Given the description of an element on the screen output the (x, y) to click on. 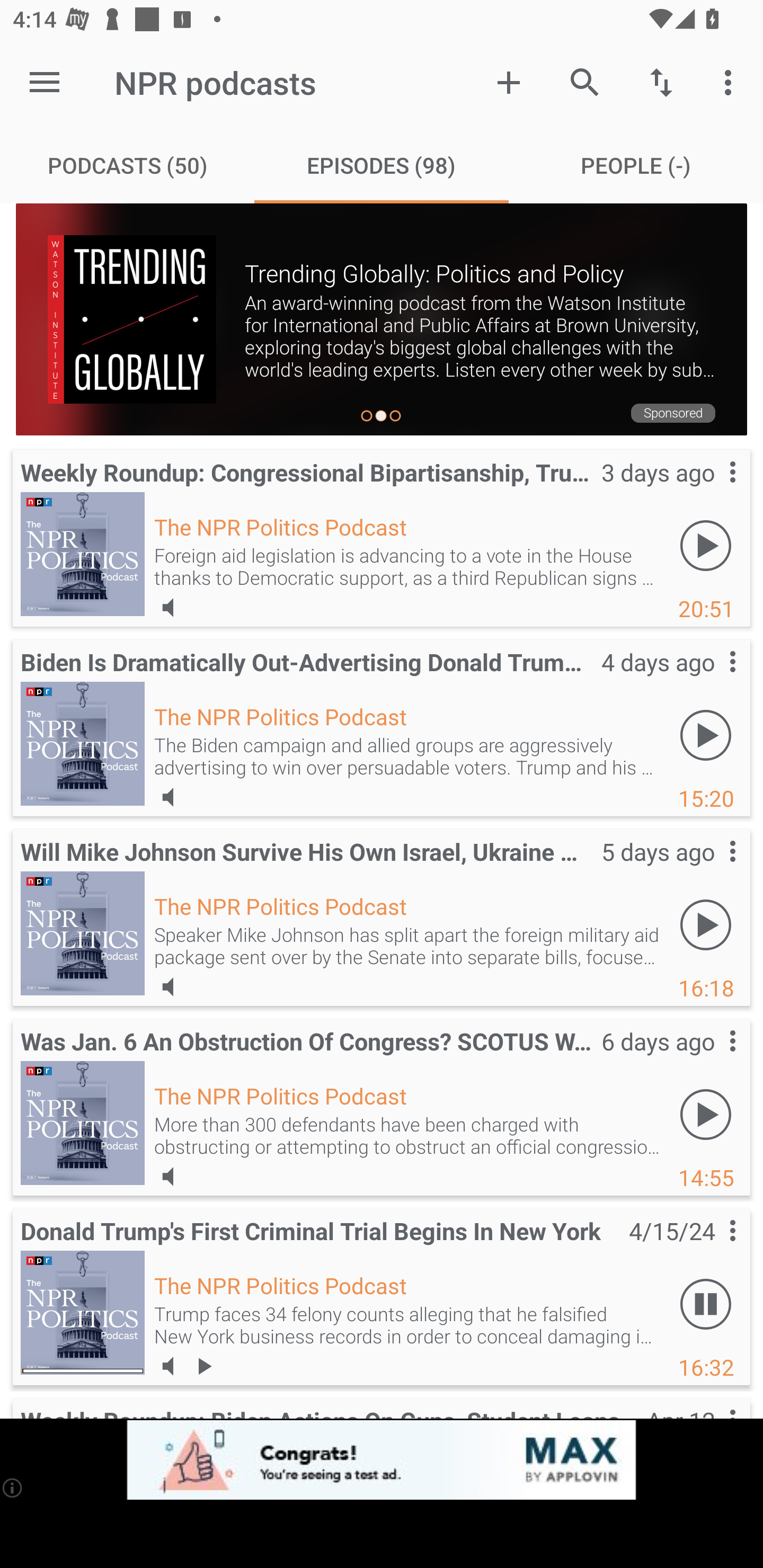
Open navigation sidebar (44, 82)
Create a 'Search Based Podcast' (508, 81)
Search (585, 81)
Sort (661, 81)
More options (731, 81)
Podcasts (50) PODCASTS (50) (127, 165)
People (-) PEOPLE (-) (635, 165)
Contextual menu (712, 489)
Play (705, 545)
Contextual menu (712, 679)
Play (705, 735)
Contextual menu (712, 869)
Play (705, 924)
Contextual menu (712, 1059)
Play (705, 1113)
Contextual menu (712, 1248)
Pause (705, 1303)
app-monetization (381, 1459)
(i) (11, 1487)
